Given the description of an element on the screen output the (x, y) to click on. 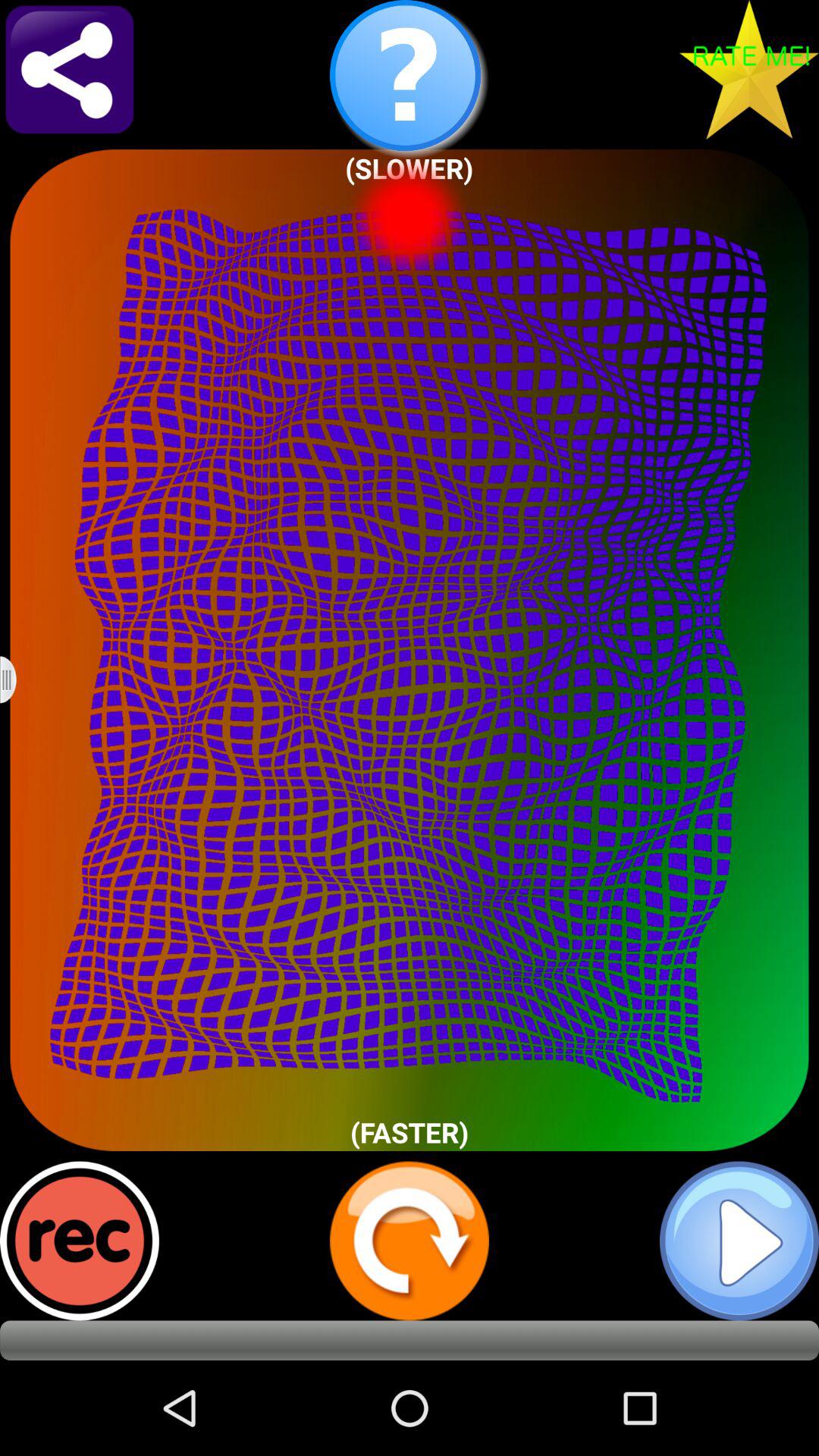
help (409, 79)
